Given the description of an element on the screen output the (x, y) to click on. 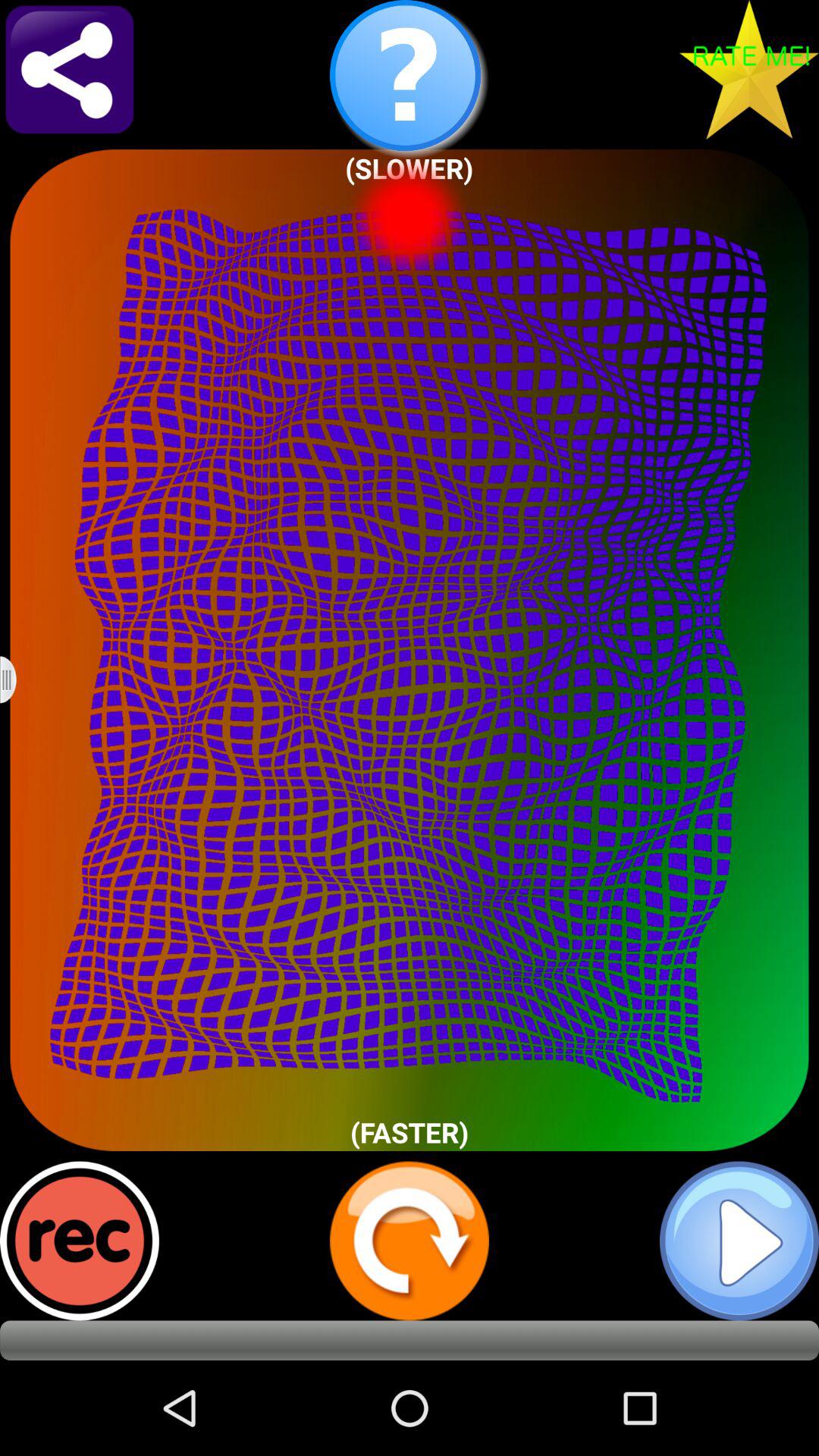
help (409, 79)
